Given the description of an element on the screen output the (x, y) to click on. 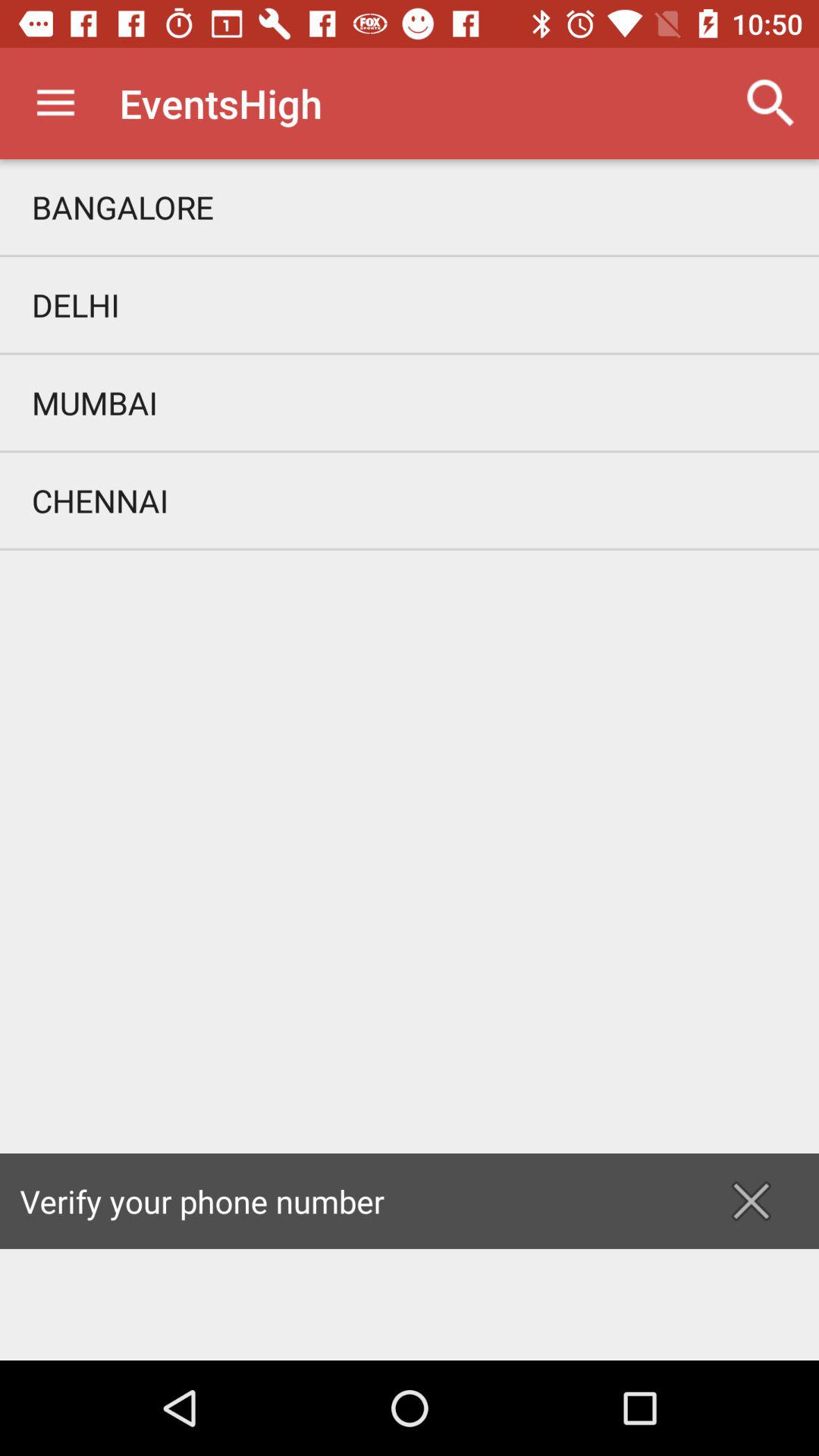
turn off item above the bangalore (771, 103)
